Given the description of an element on the screen output the (x, y) to click on. 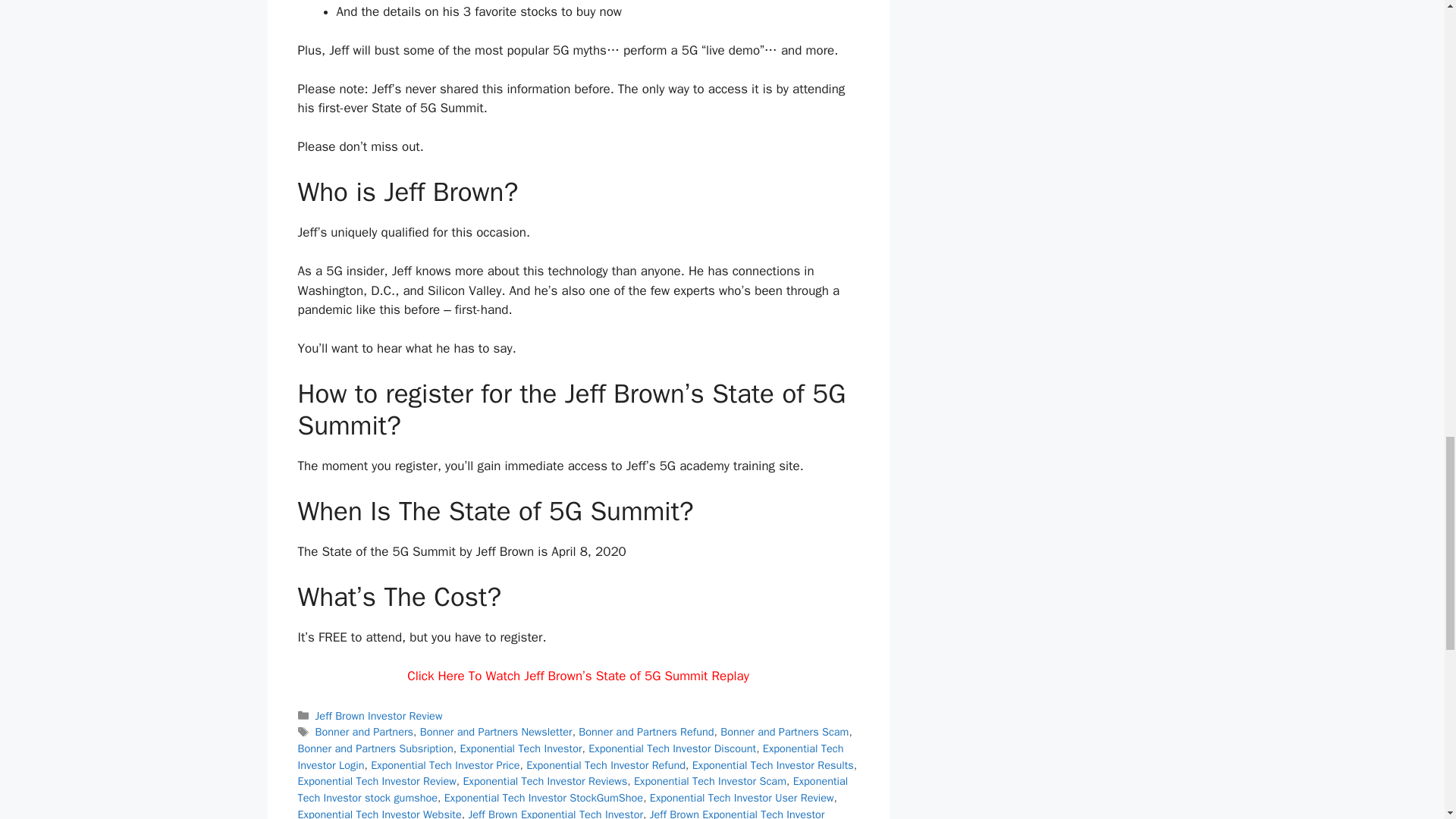
Exponential Tech Investor (520, 748)
Exponential Tech Investor Price (445, 765)
Exponential Tech Investor stock gumshoe (572, 788)
Exponential Tech Investor Scam (709, 780)
Exponential Tech Investor Results (773, 765)
Bonner and Partners Newsletter (496, 731)
Bonner and Partners Subsription (374, 748)
Exponential Tech Investor User Review (741, 797)
Jeff Brown Investor Review (378, 715)
Exponential Tech Investor Refund (605, 765)
Exponential Tech Investor Discount (671, 748)
Bonner and Partners (364, 731)
Bonner and Partners Scam (784, 731)
Exponential Tech Investor Reviews (545, 780)
Exponential Tech Investor Login (570, 757)
